Given the description of an element on the screen output the (x, y) to click on. 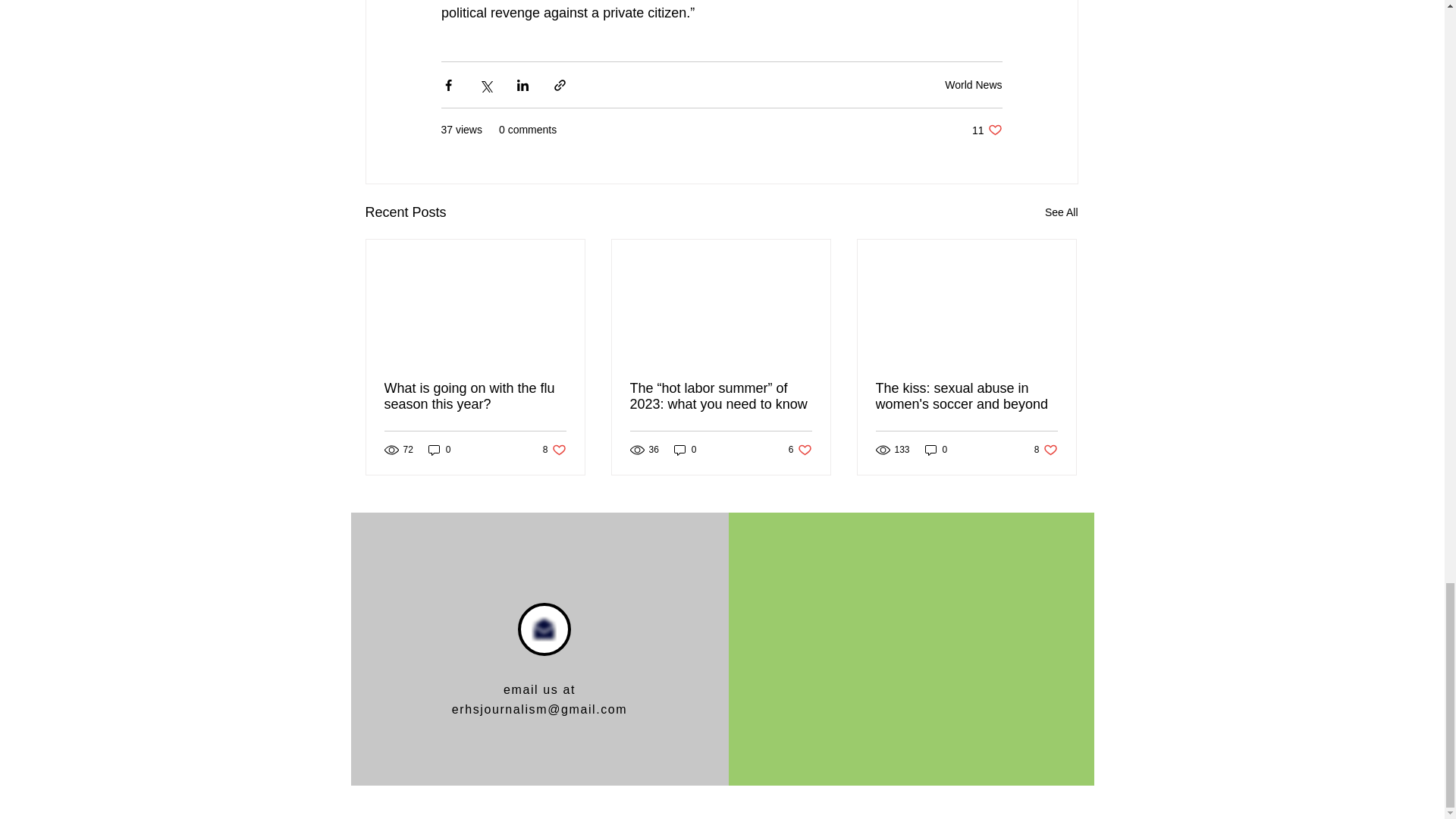
0 (936, 450)
What is going on with the flu season this year? (987, 129)
World News (475, 396)
0 (972, 84)
0 (1045, 450)
The kiss: sexual abuse in women's soccer and beyond (685, 450)
See All (439, 450)
